Given the description of an element on the screen output the (x, y) to click on. 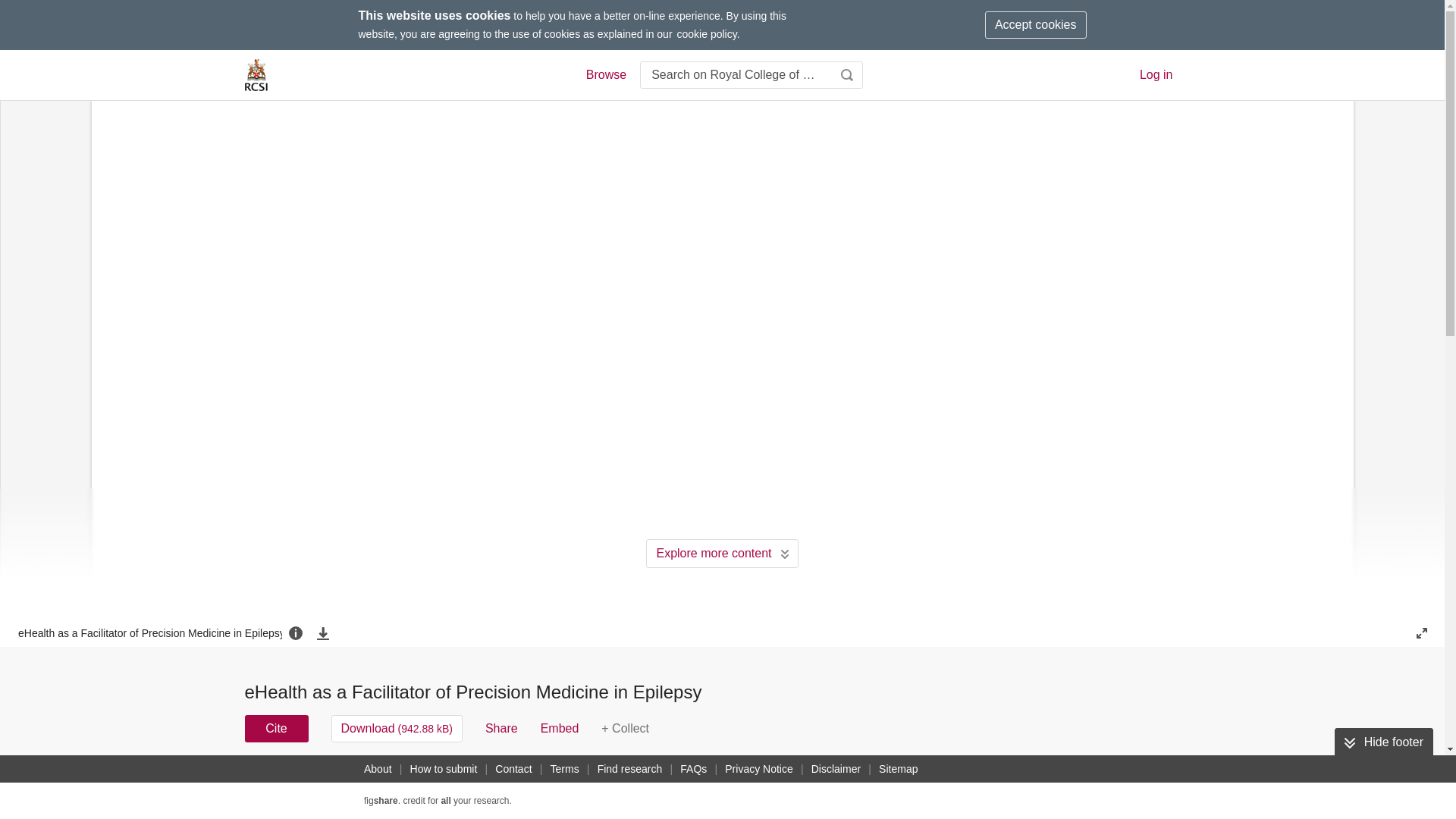
you need to log in first (625, 728)
USAGE METRICS (976, 782)
Browse (605, 75)
Accept cookies (1035, 24)
Cite (275, 728)
Version 2 (273, 778)
cookie policy (706, 33)
Share (501, 728)
